Given the description of an element on the screen output the (x, y) to click on. 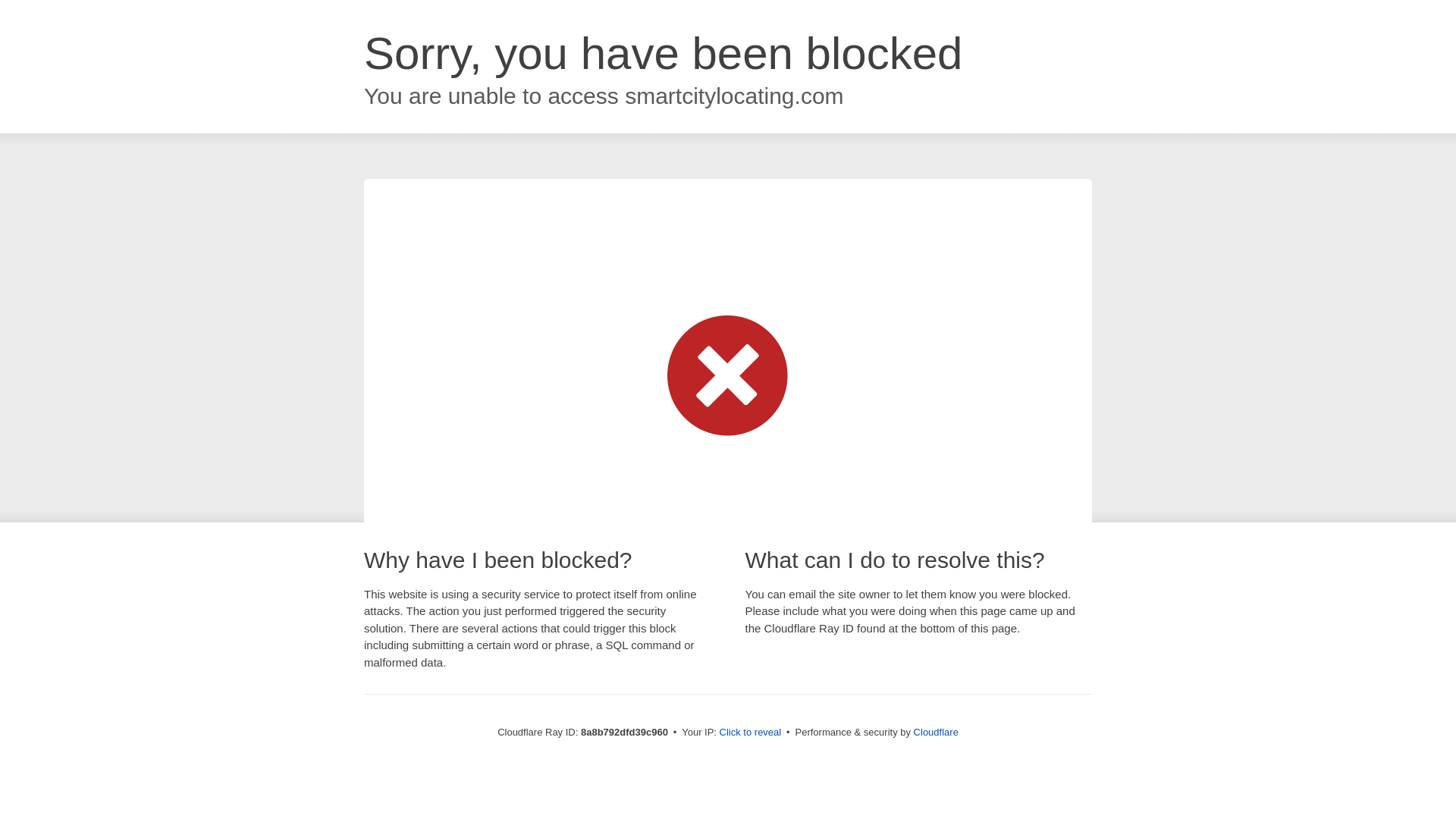
Click to reveal (750, 732)
Cloudflare (936, 731)
